Given the description of an element on the screen output the (x, y) to click on. 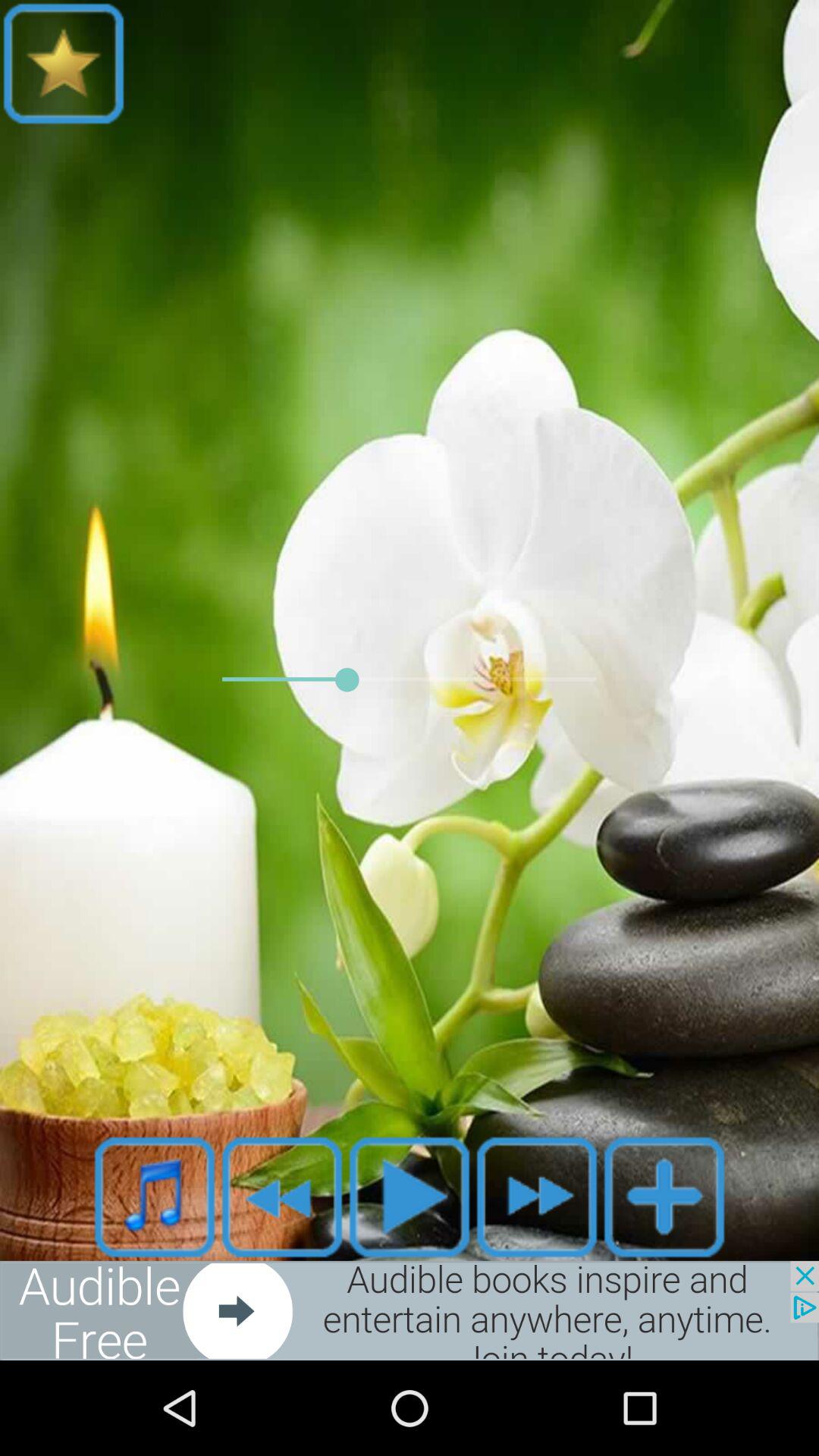
go back (281, 1196)
